Given the description of an element on the screen output the (x, y) to click on. 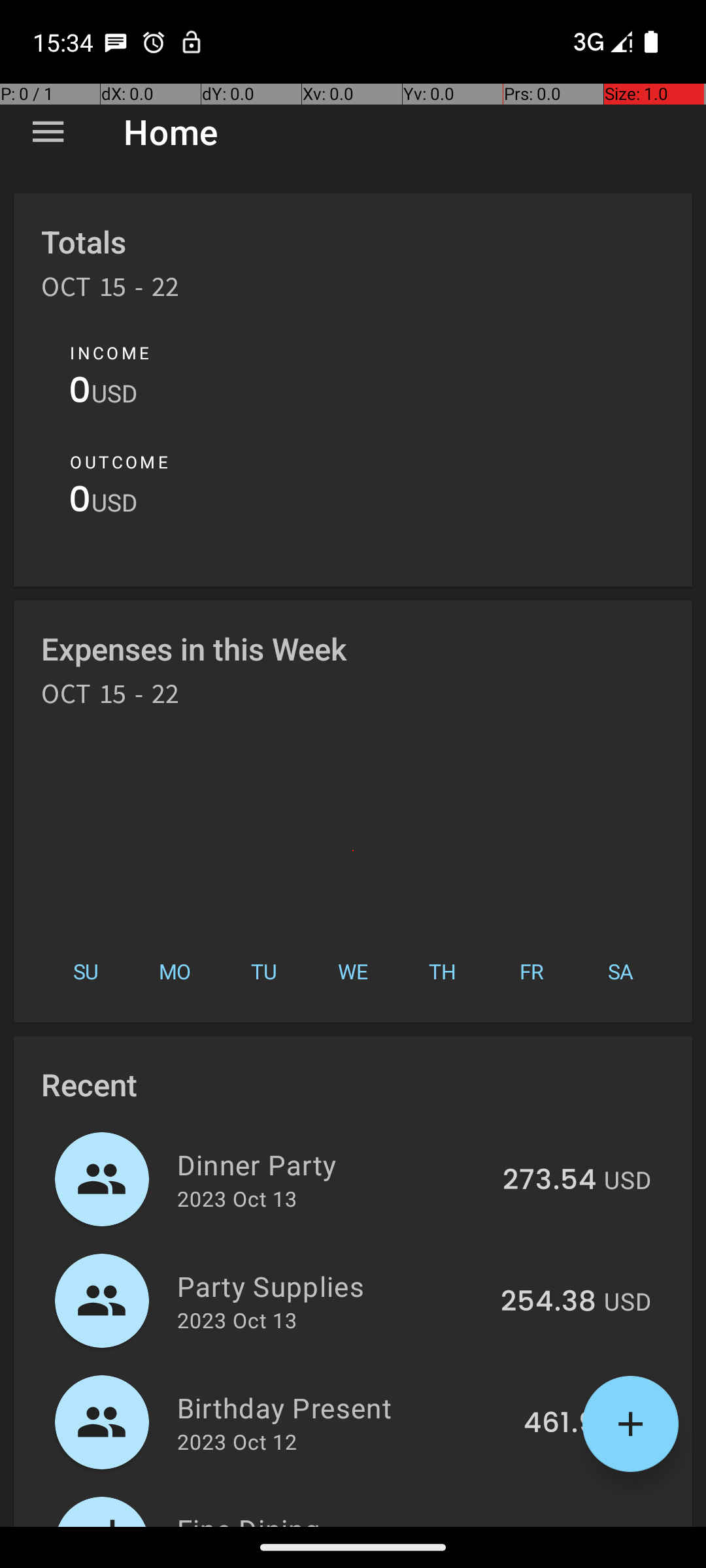
273.54 Element type: android.widget.TextView (549, 1180)
254.38 Element type: android.widget.TextView (548, 1301)
461.9 Element type: android.widget.TextView (559, 1423)
162.92 Element type: android.widget.TextView (552, 1524)
